Given the description of an element on the screen output the (x, y) to click on. 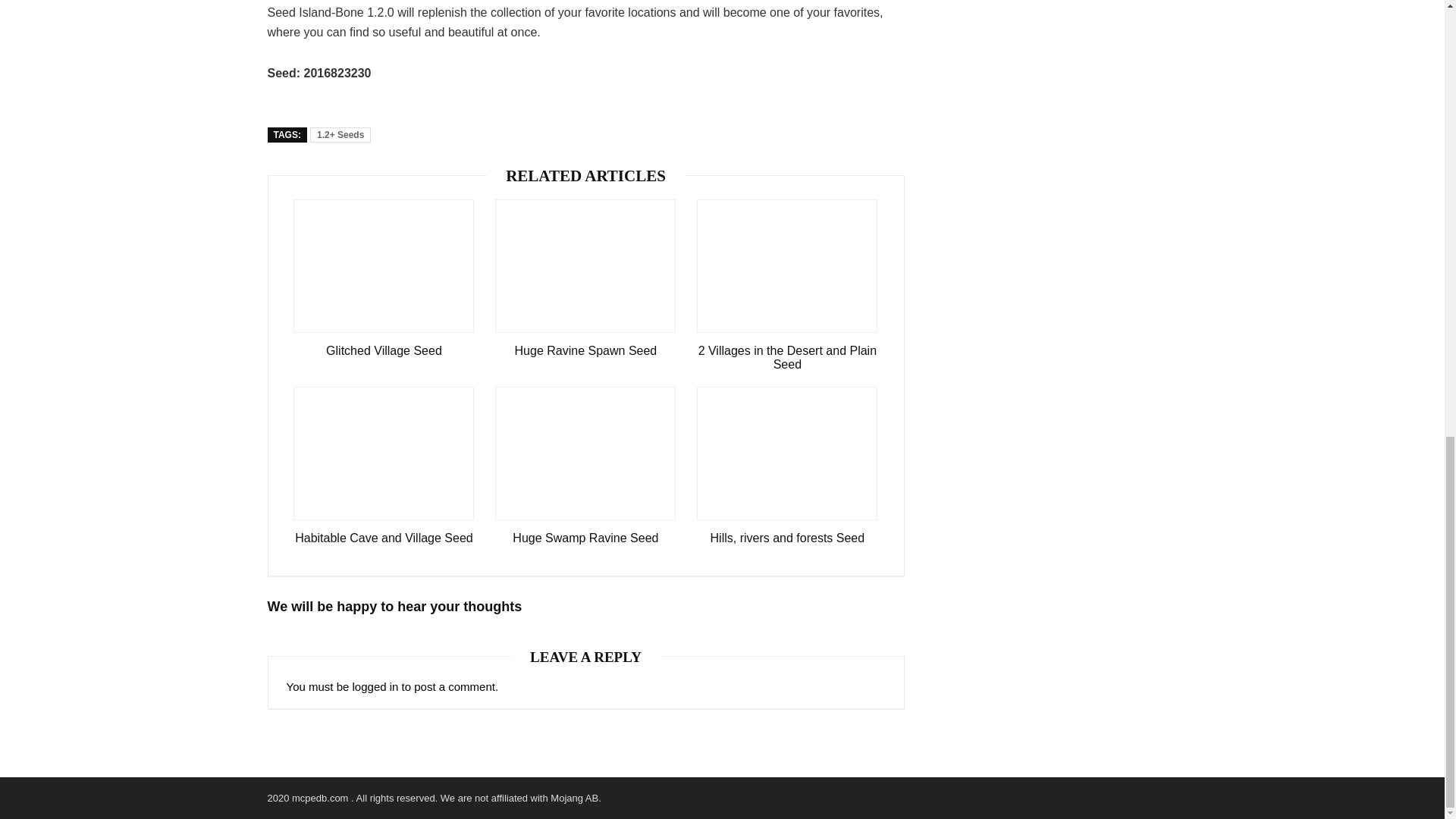
Huge Ravine Spawn Seed (585, 350)
Glitched Village Seed (384, 350)
Glitched Village Seed (384, 350)
Huge Swamp Ravine Seed (585, 538)
Hills, rivers and forests Seed (787, 538)
Habitable Cave and Village Seed (384, 538)
Huge Ravine Spawn Seed (585, 350)
Huge Swamp Ravine Seed (585, 538)
Hills, rivers and forests Seed (787, 538)
2 Villages in the Desert and Plain Seed (787, 357)
